Given the description of an element on the screen output the (x, y) to click on. 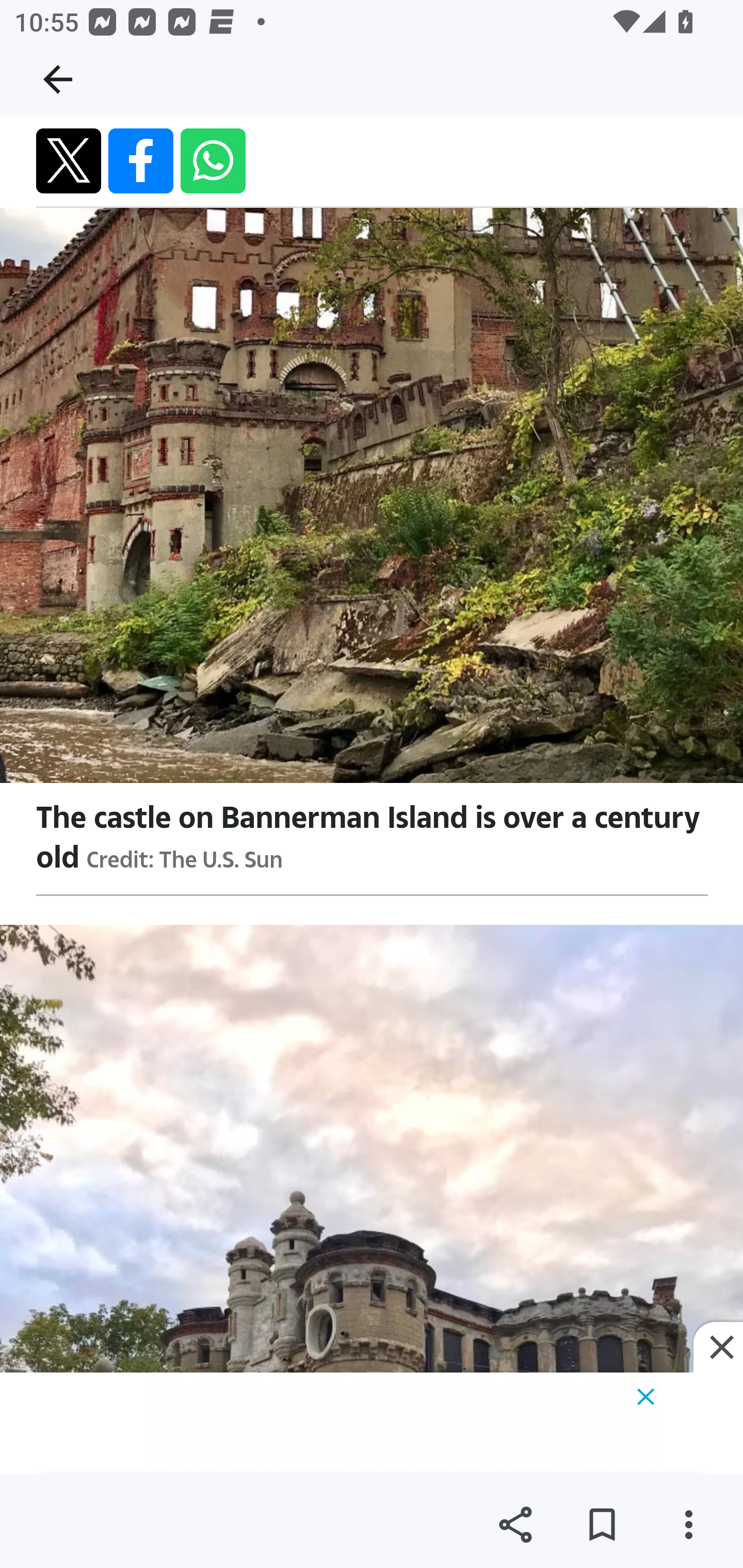
Navigate up (57, 79)
Share by twitter (69, 161)
Share by facebook (141, 161)
Share by whatsapp (212, 161)
Share (514, 1524)
Save for later (601, 1524)
More options (688, 1524)
